Given the description of an element on the screen output the (x, y) to click on. 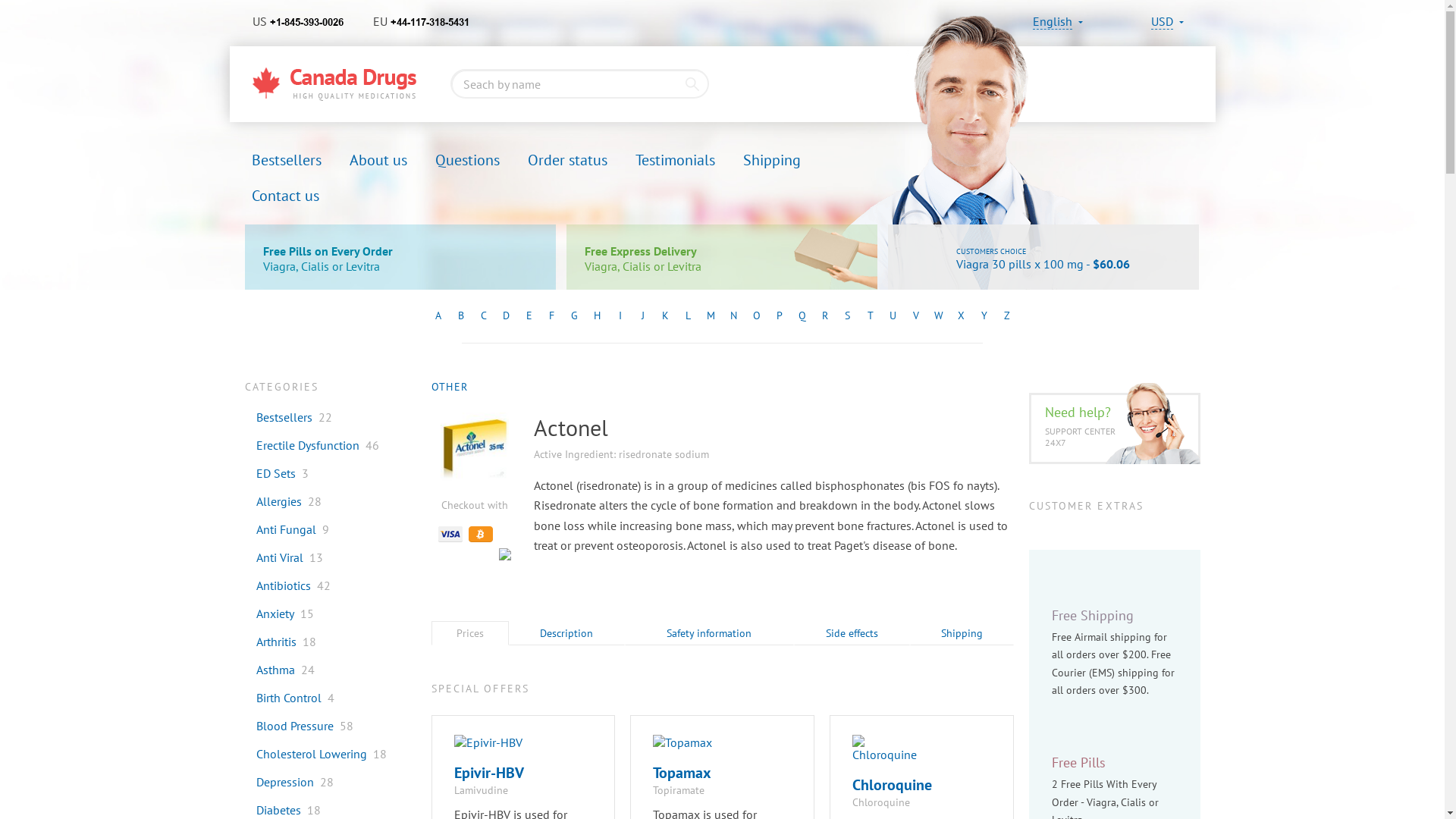
Anti Viral Element type: text (273, 556)
S Element type: text (846, 316)
K Element type: text (664, 316)
Allergies Element type: text (272, 500)
Free Pills on Every Order
Viagra, Cialis or Levitra Element type: text (399, 256)
Chloroquine Element type: text (891, 784)
Antibiotics Element type: text (277, 585)
M Element type: text (710, 316)
Asthma Element type: text (269, 669)
Birth Control Element type: text (282, 697)
U Element type: text (892, 316)
E Element type: text (528, 316)
X Element type: text (960, 316)
Erectile Dysfunction Element type: text (301, 444)
B Element type: text (460, 316)
N Element type: text (733, 316)
J Element type: text (642, 316)
F Element type: text (551, 316)
H Element type: text (596, 316)
About us Element type: text (377, 162)
Bestsellers Element type: text (277, 416)
Questions Element type: text (467, 162)
Contact us Element type: text (285, 197)
Epivir-HBV Element type: text (488, 772)
C Element type: text (482, 316)
I Element type: text (619, 316)
Free Express Delivery
Viagra, Cialis or Levitra Element type: text (721, 256)
Anxiety Element type: text (268, 613)
L Element type: text (687, 316)
Z Element type: text (1006, 316)
Bestsellers Element type: text (286, 162)
Topamax Element type: text (681, 772)
T Element type: text (869, 316)
A Element type: text (437, 316)
Order status Element type: text (567, 162)
P Element type: text (778, 316)
O Element type: text (755, 316)
R Element type: text (824, 316)
Depression Element type: text (278, 781)
Q Element type: text (801, 316)
ED Sets Element type: text (269, 472)
Testimonials Element type: text (675, 162)
Arthritis Element type: text (269, 641)
Anti Fungal Element type: text (279, 528)
W Element type: text (937, 316)
Blood Pressure Element type: text (288, 725)
D Element type: text (505, 316)
Diabetes Element type: text (272, 809)
Need help?
SUPPORT CENTER
24X7 Element type: text (1113, 428)
OTHER Element type: text (448, 386)
Cholesterol Lowering Element type: text (305, 753)
G Element type: text (573, 316)
V Element type: text (915, 316)
CUSTOMERS CHOICE
Viagra 30 pills x 100 mg - $60.06 Element type: text (1043, 256)
Y Element type: text (983, 316)
Shipping Element type: text (771, 162)
